Given the description of an element on the screen output the (x, y) to click on. 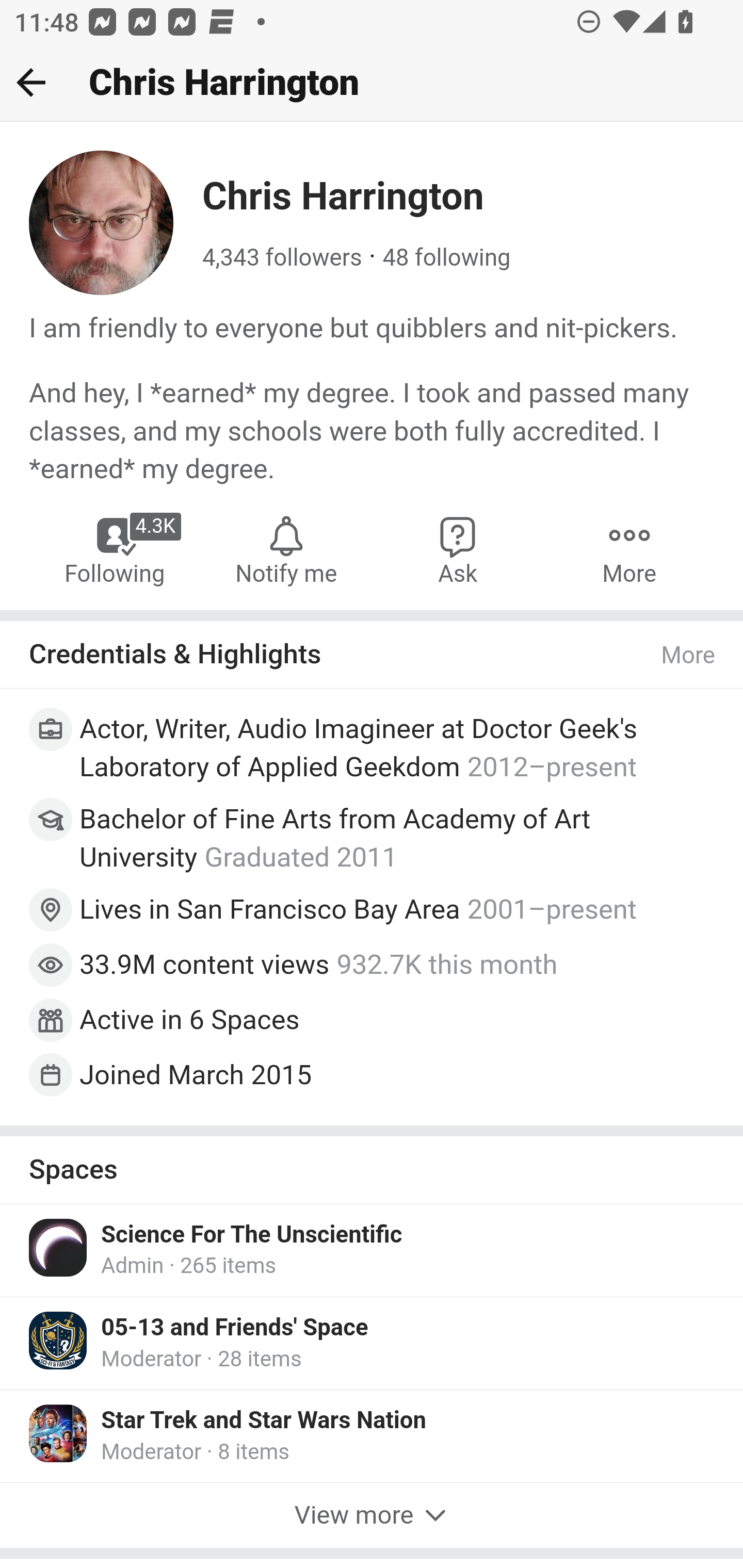
Back (30, 82)
Following Chris Harrington 4.3K Following (115, 548)
Notify me (285, 548)
Ask (458, 548)
More (628, 548)
More (688, 656)
Icon for Science For The Unscientific (58, 1246)
Science For The Unscientific (251, 1233)
Icon for 05-13 and Friends' Space (58, 1339)
05-13 and Friends' Space (235, 1327)
Icon for Star Trek and Star Wars Nation (58, 1432)
Star Trek and Star Wars Nation (264, 1420)
View more (371, 1516)
